Given the description of an element on the screen output the (x, y) to click on. 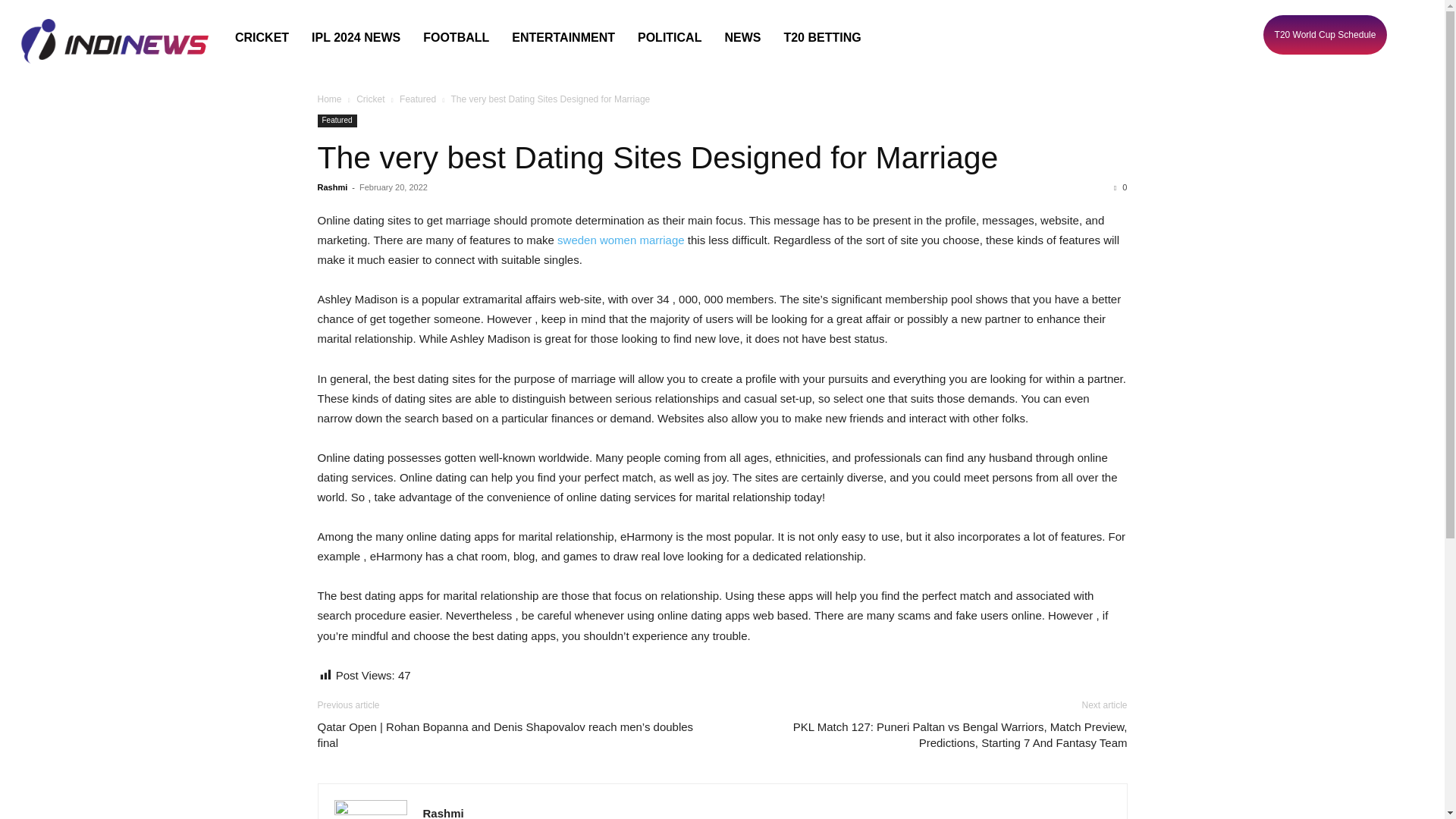
ENTERTAINMENT (563, 37)
POLITICAL (669, 37)
T20 BETTING (821, 37)
IPL 2024 NEWS (355, 37)
Featured (416, 99)
0 (1119, 186)
Rashmi (443, 812)
T20 World Cup Schedule (1324, 34)
Home (328, 99)
View all posts in Featured (416, 99)
